Given the description of an element on the screen output the (x, y) to click on. 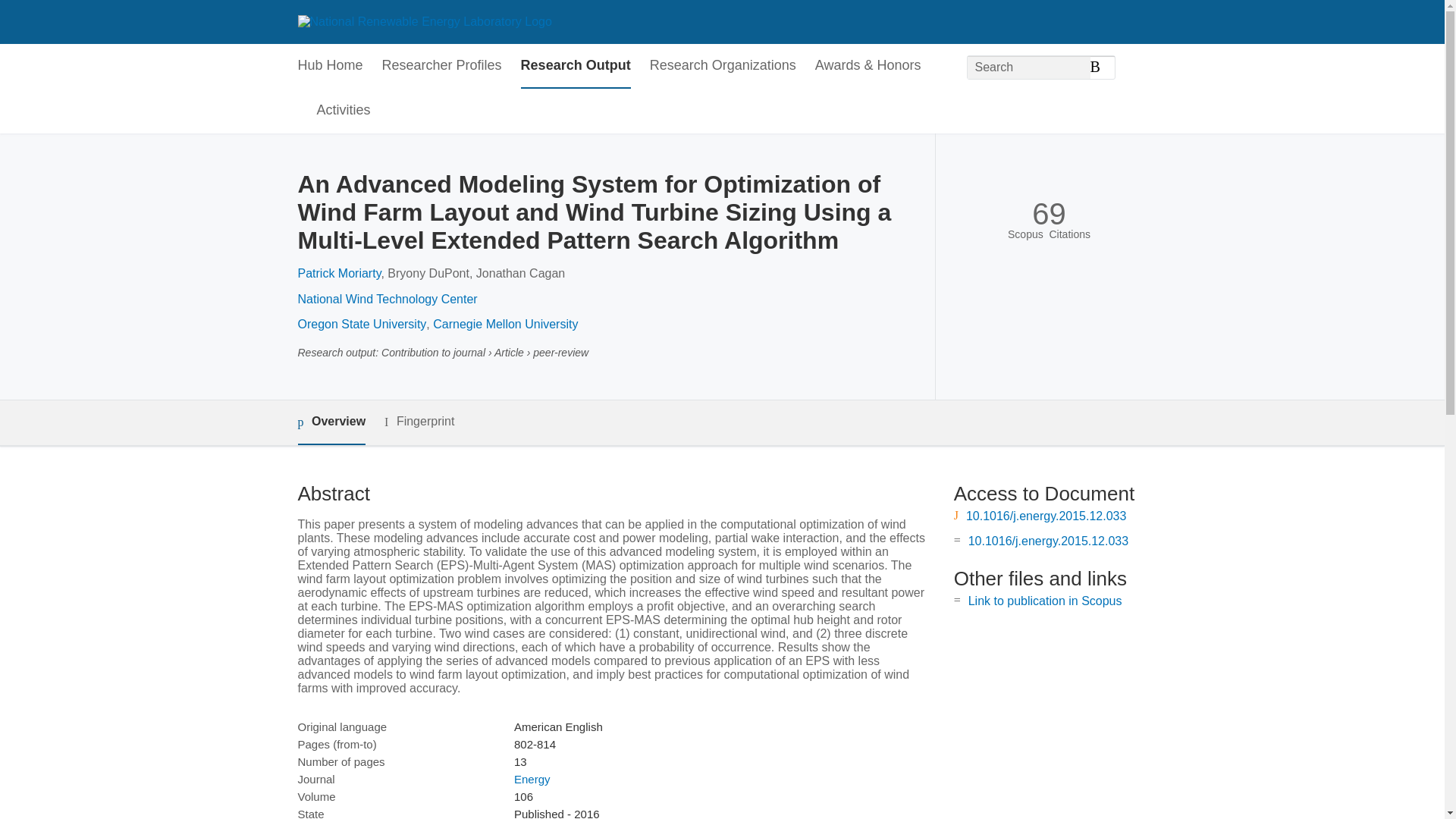
Link to publication in Scopus (1045, 600)
National Wind Technology Center (387, 298)
Hub Home (329, 66)
National Renewable Energy Laboratory Hub Home (424, 21)
Research Organizations (722, 66)
Energy (531, 779)
Research Output (575, 66)
Patrick Moriarty (338, 273)
Fingerprint (419, 421)
